Given the description of an element on the screen output the (x, y) to click on. 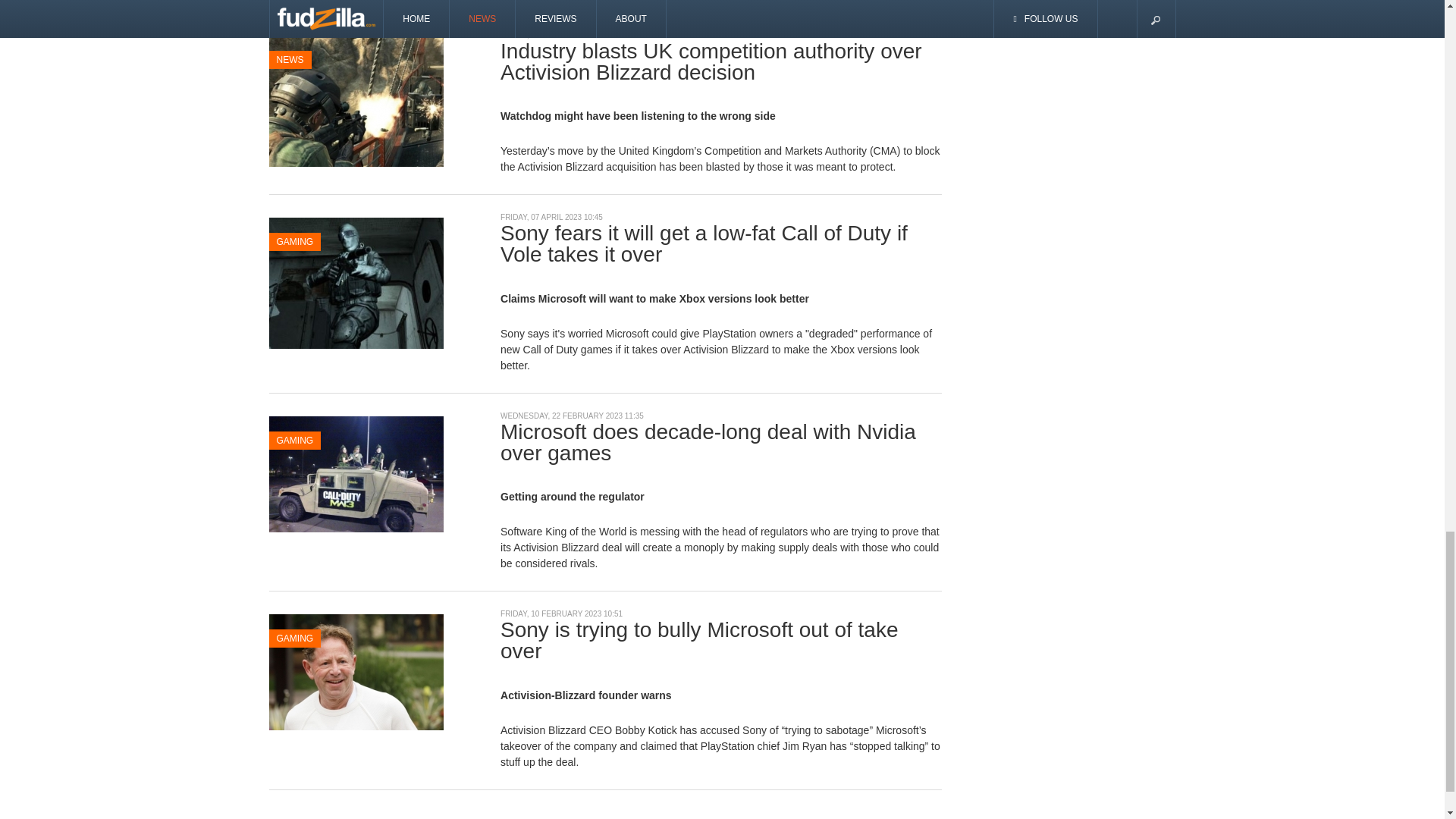
Microsoft does decade-long deal with Nvidia over games (354, 472)
Sony is trying to bully Microsoft out of take over (354, 671)
